Given the description of an element on the screen output the (x, y) to click on. 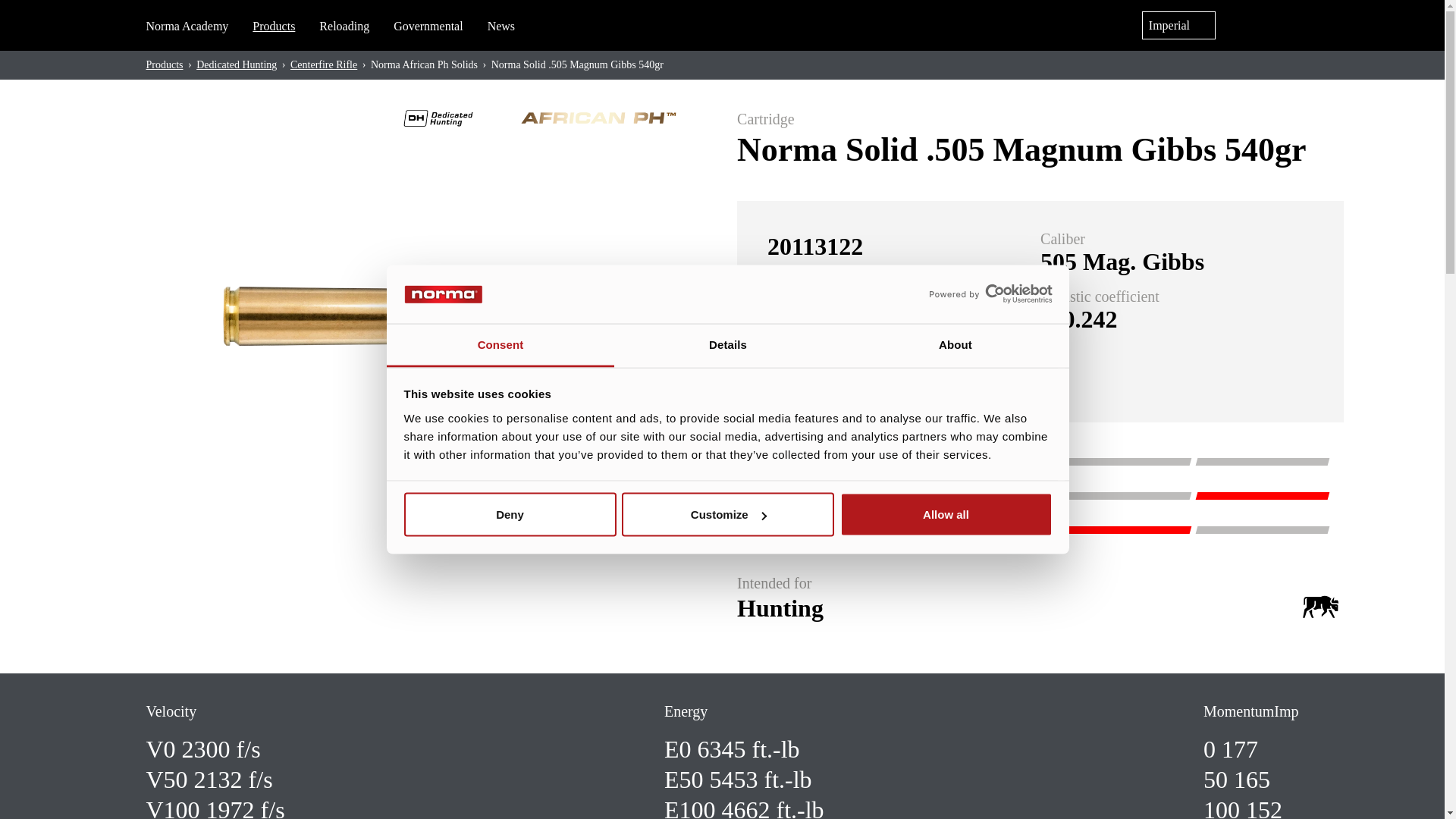
About (954, 344)
Consent (500, 344)
Details (727, 344)
